Given the description of an element on the screen output the (x, y) to click on. 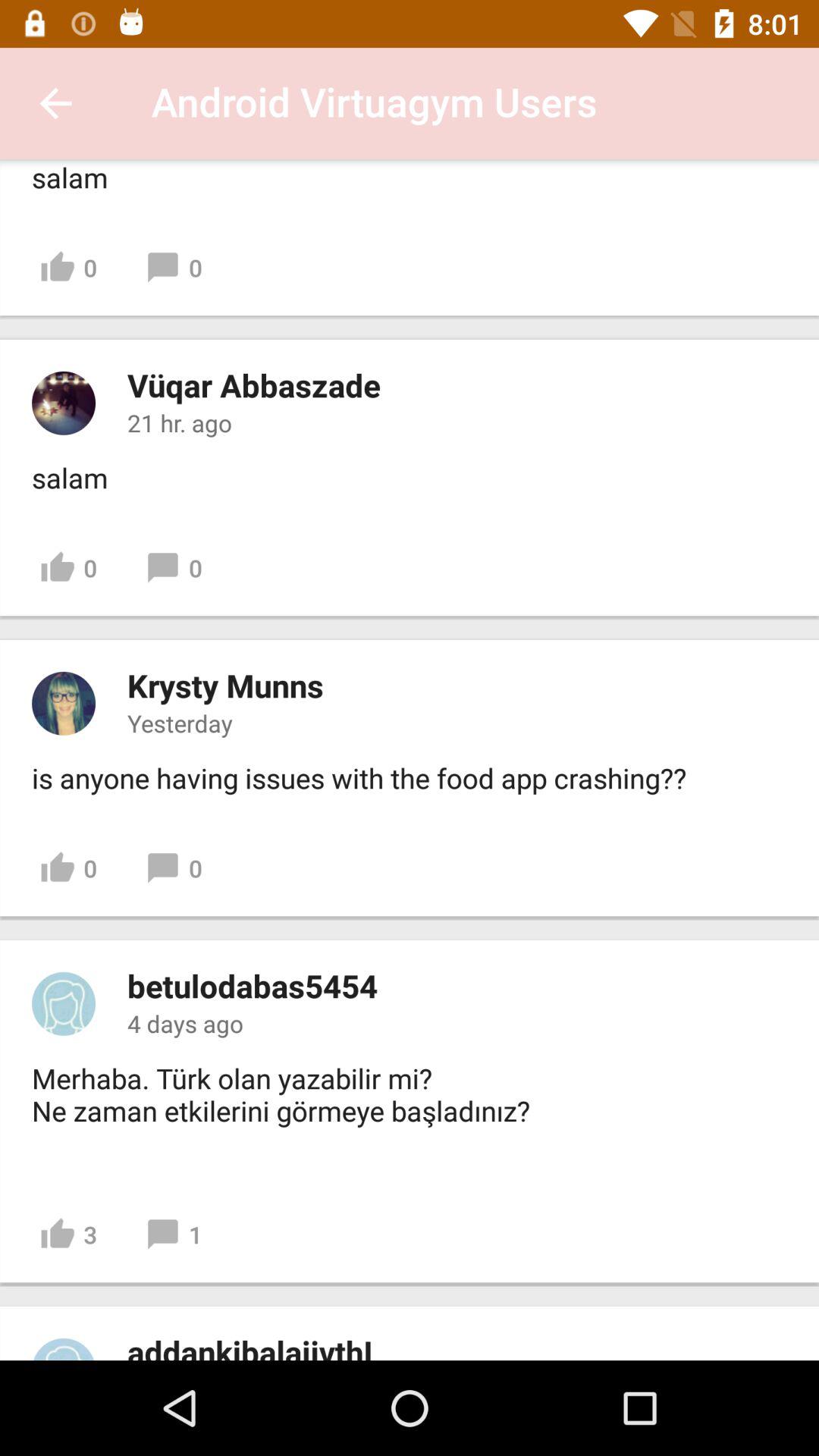
turn on item above 3 (284, 1111)
